Given the description of an element on the screen output the (x, y) to click on. 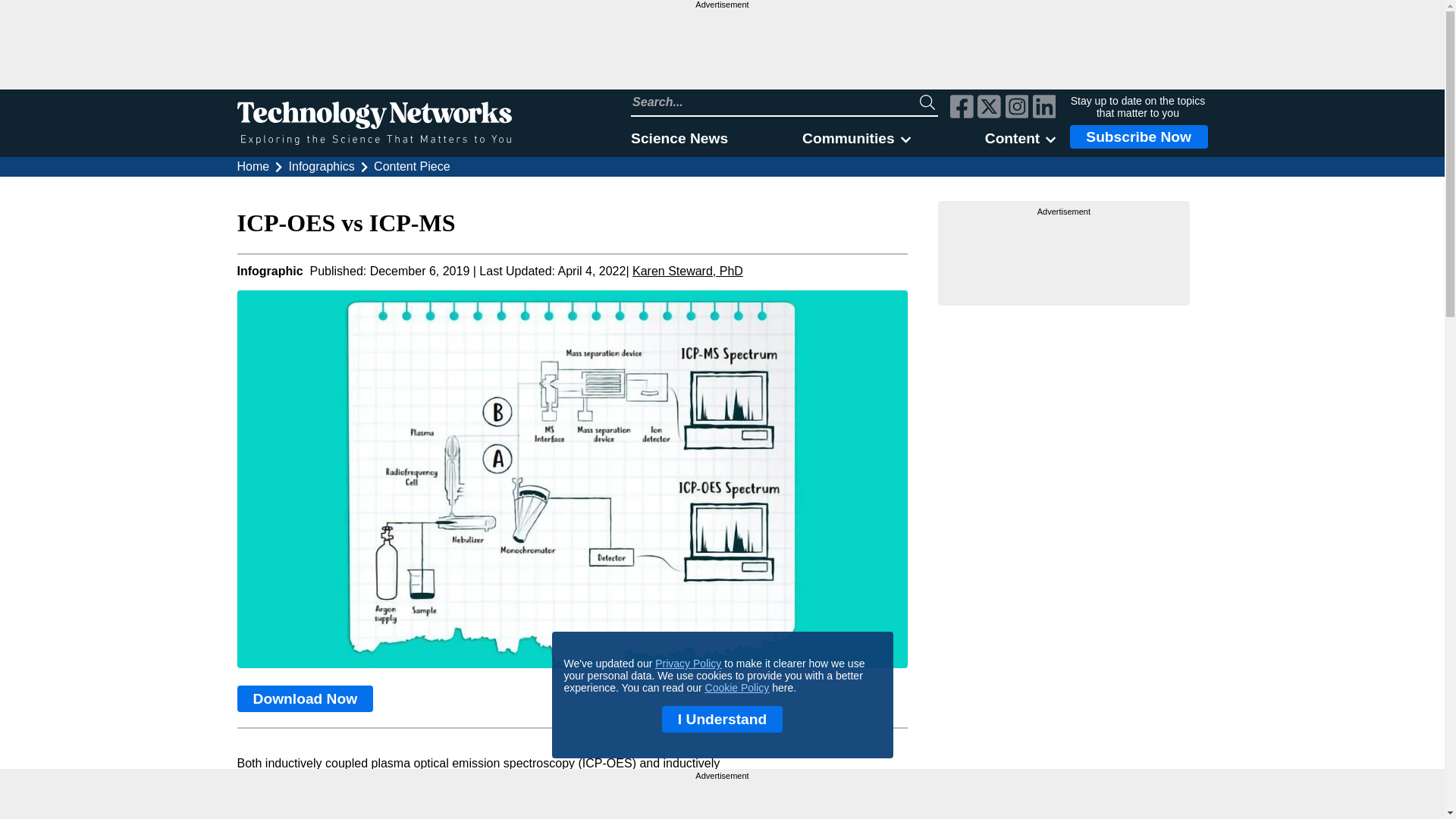
I Understand (722, 718)
Search Technology Networks website input field (775, 102)
Cookie Policy (737, 687)
Technology Networks logo a link to home page (373, 122)
Privacy Policy (687, 663)
